Given the description of an element on the screen output the (x, y) to click on. 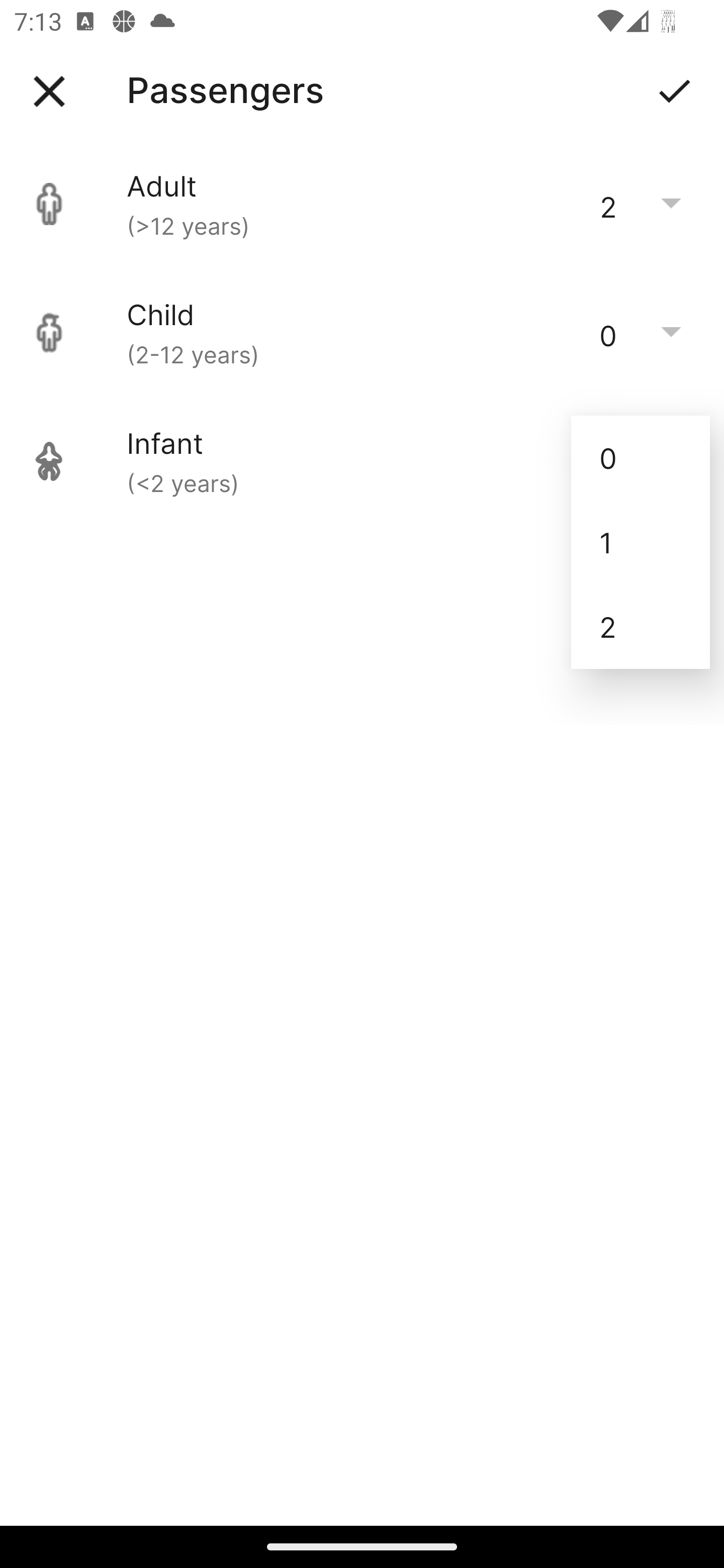
0 (640, 457)
1 (640, 542)
2 (640, 626)
